Given the description of an element on the screen output the (x, y) to click on. 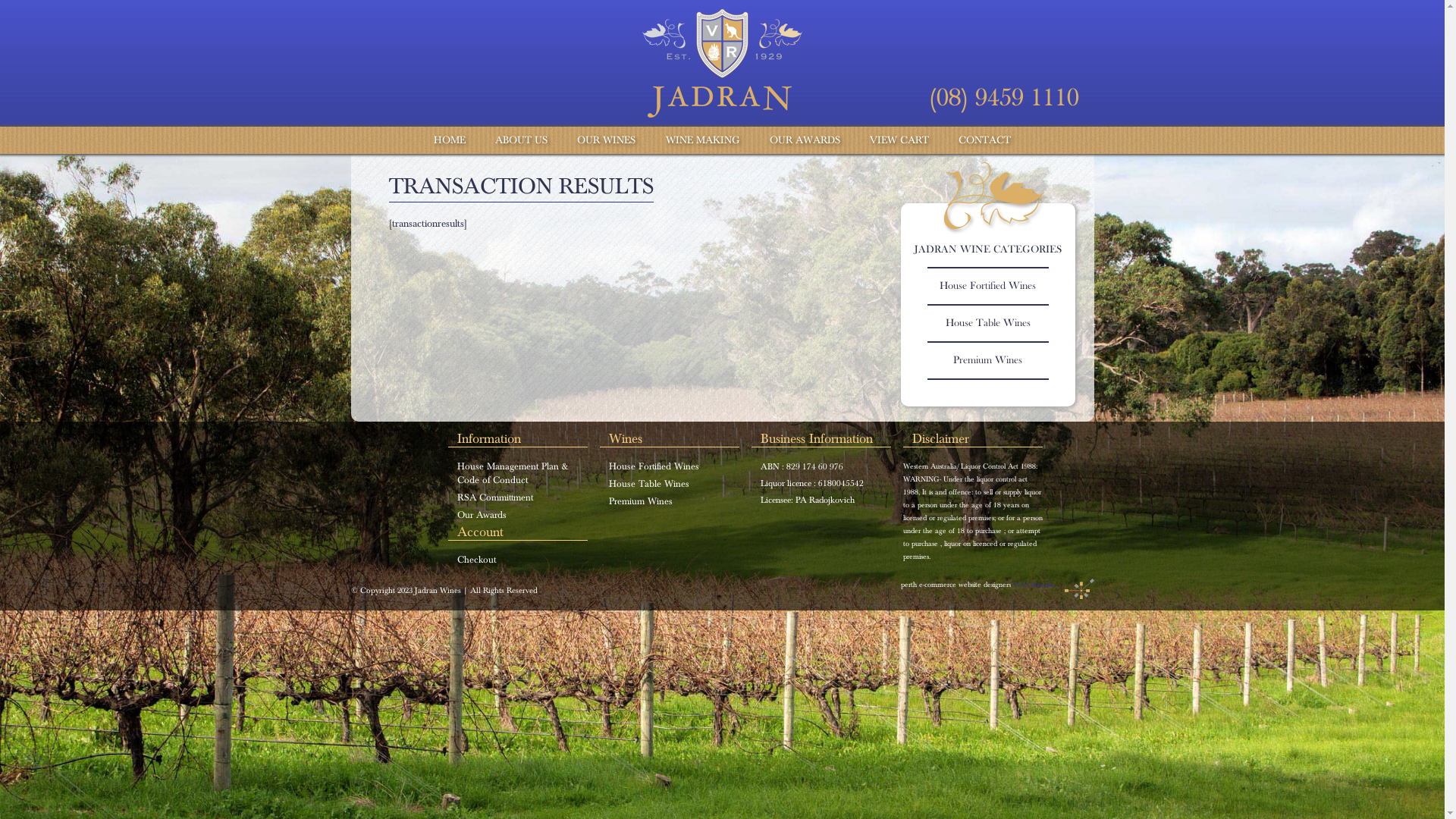
ABOUT US Element type: text (521, 140)
CONTACT Element type: text (984, 140)
House Table Wines Element type: text (648, 483)
VIEW CART Element type: text (898, 140)
OUR AWARDS Element type: text (804, 140)
House Table Wines Element type: text (986, 323)
Web Wizards Element type: text (1053, 584)
Premium Wines Element type: text (639, 501)
WINE MAKING Element type: text (702, 140)
OUR WINES Element type: text (606, 140)
Premium Wines Element type: text (987, 360)
Our Awards Element type: text (480, 514)
RSA Committment Element type: text (494, 497)
Checkout Element type: text (475, 559)
House Fortified Wines Element type: text (987, 285)
(08) 9459 1110 Element type: text (1003, 97)
House Fortified Wines Element type: text (653, 466)
HOME Element type: text (449, 140)
House Management Plan & Code of Conduct Element type: text (511, 473)
